Given the description of an element on the screen output the (x, y) to click on. 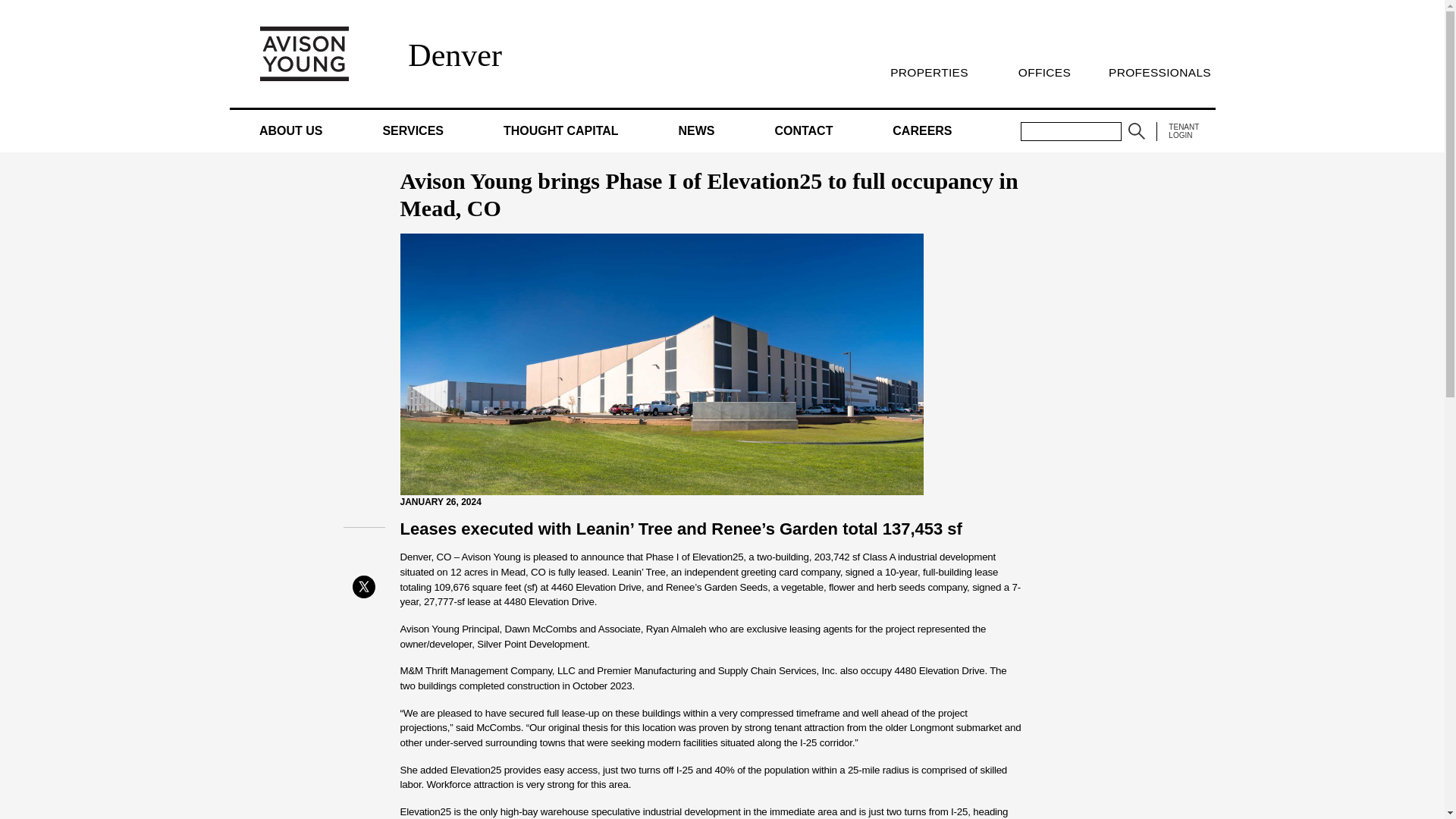
PROPERTIES (928, 72)
Denver (454, 54)
OFFICES (1043, 72)
Skip to Main Content (5, 5)
